Given the description of an element on the screen output the (x, y) to click on. 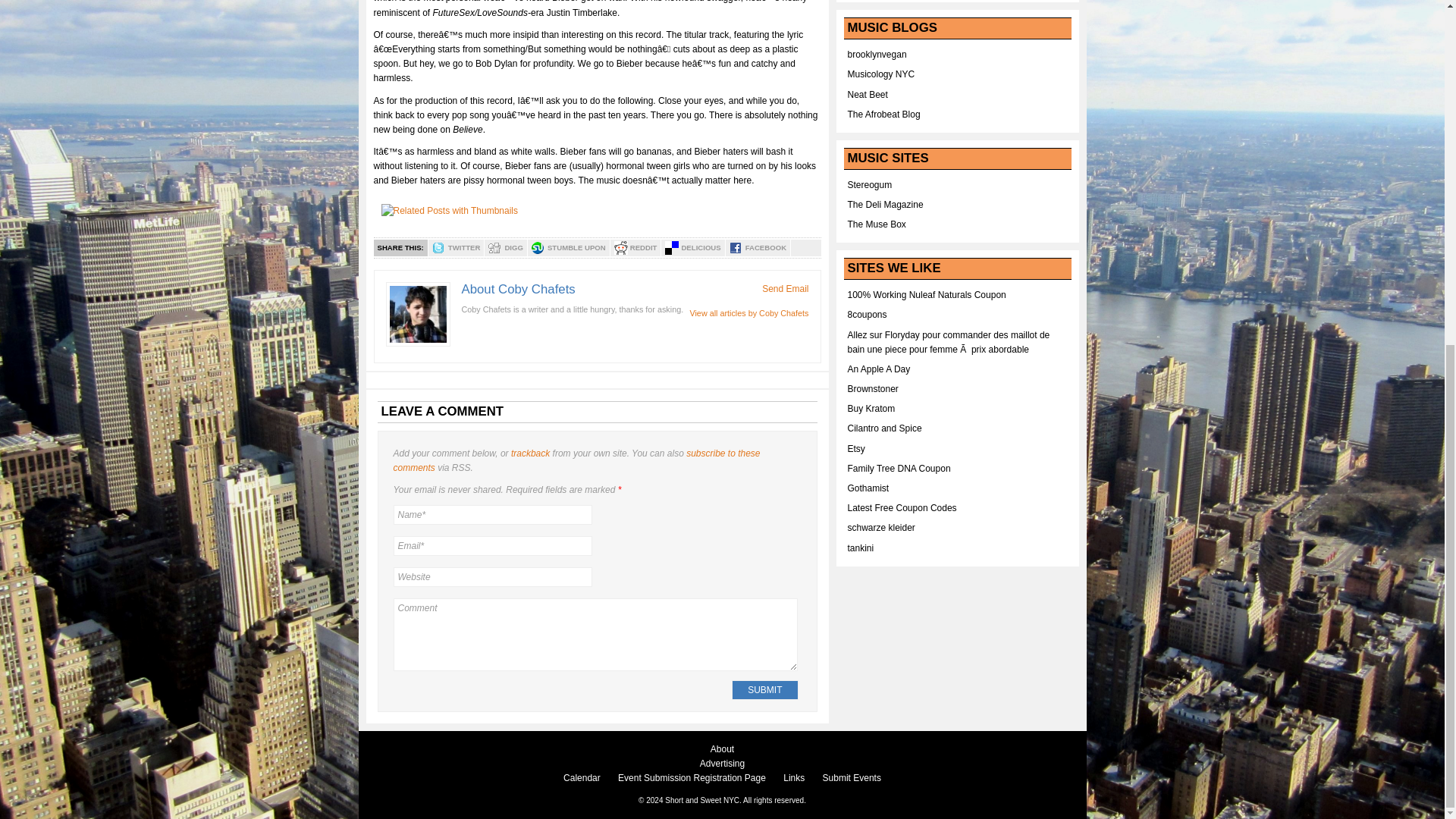
View all posts by Coby Chafets (748, 312)
Submit (764, 690)
Website (492, 577)
tankini (861, 547)
Verified Family Tree DNA Coupon (898, 468)
